Given the description of an element on the screen output the (x, y) to click on. 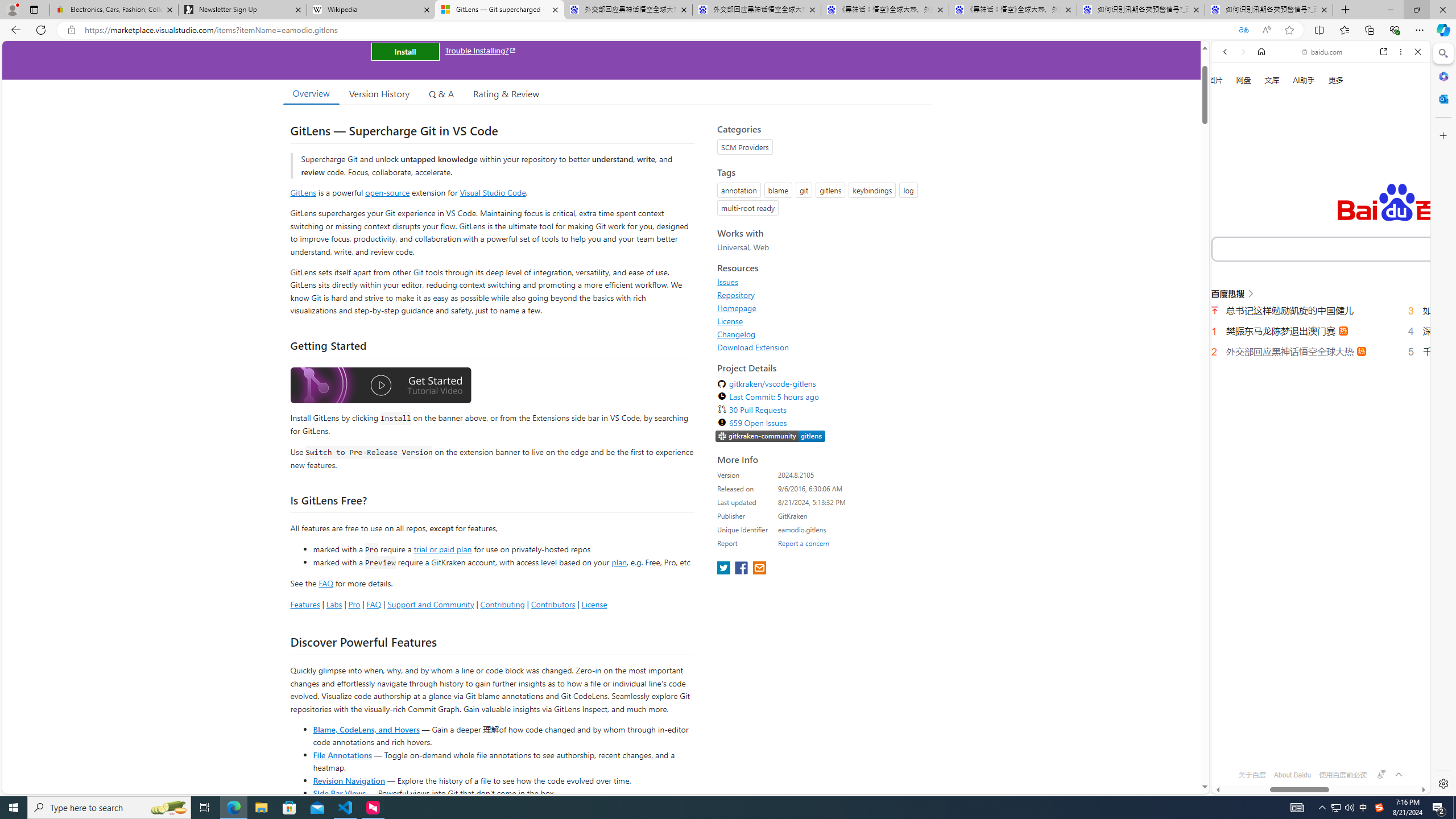
baidu.com (1323, 51)
Issues (820, 281)
OF | English meaning - Cambridge Dictionary (1315, 238)
License (729, 320)
